Given the description of an element on the screen output the (x, y) to click on. 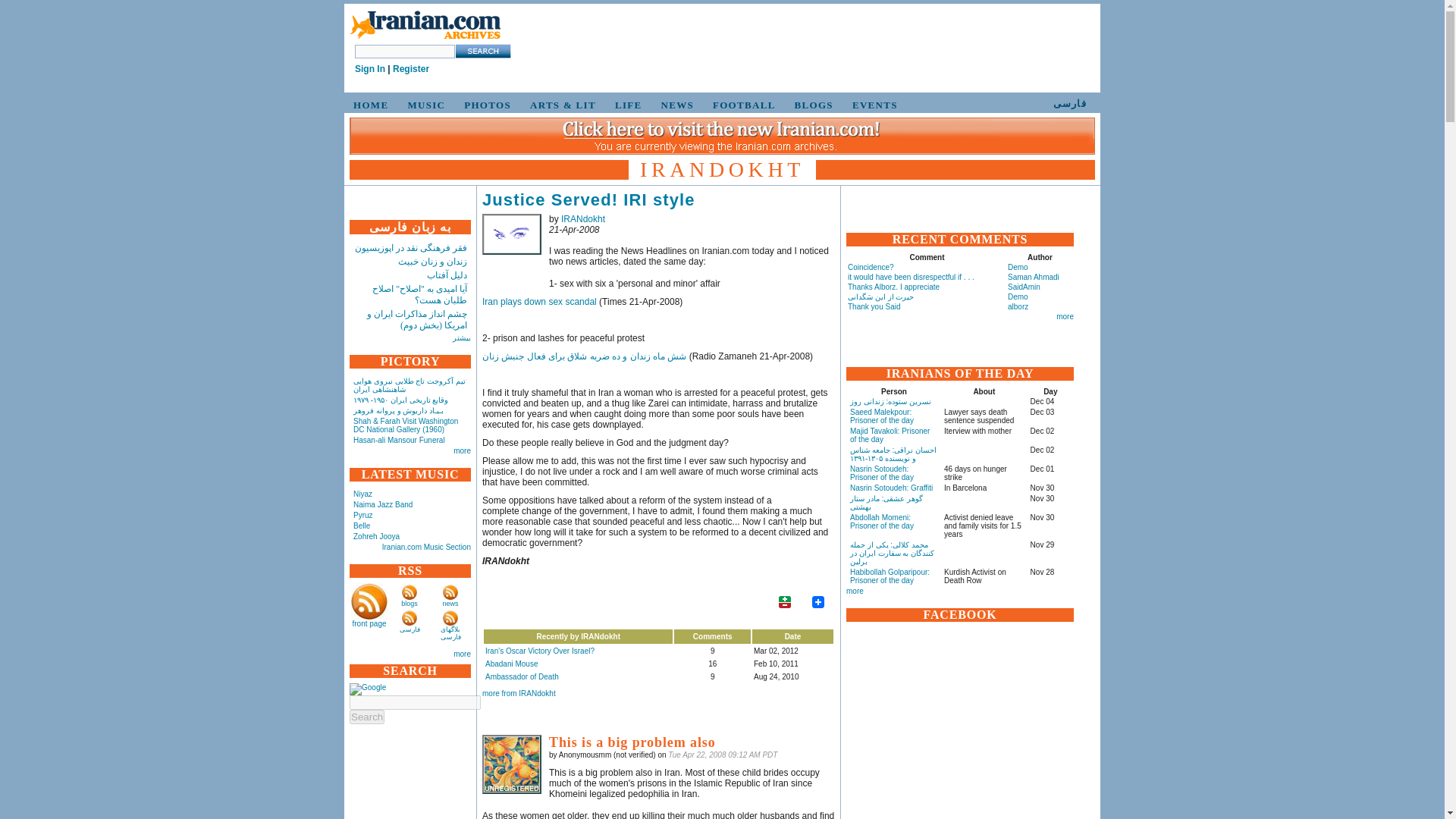
LIFE (625, 105)
Home (424, 25)
Iranian.com Music Section (425, 546)
Google (367, 689)
HOME (368, 105)
Belle (361, 525)
news (450, 603)
blogs (409, 603)
Home (424, 40)
Search this Site (483, 51)
EVENTS (872, 105)
Pyruz (362, 515)
PHOTOS (484, 105)
View user profile. (582, 218)
front page (368, 623)
